Given the description of an element on the screen output the (x, y) to click on. 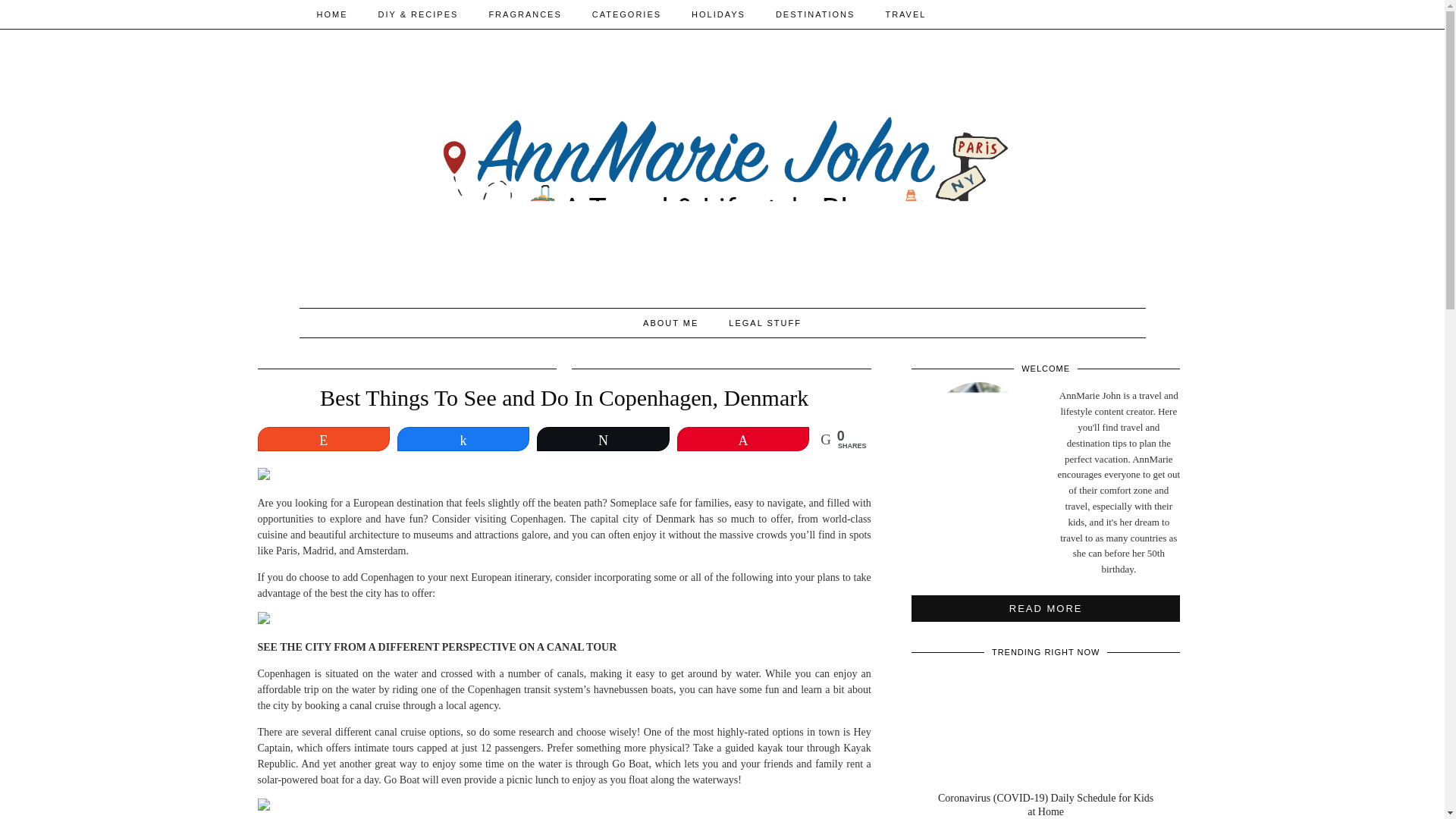
CATEGORIES (626, 14)
FRAGRANCES (524, 14)
HOLIDAYS (718, 14)
DESTINATIONS (814, 14)
HOME (331, 14)
